Given the description of an element on the screen output the (x, y) to click on. 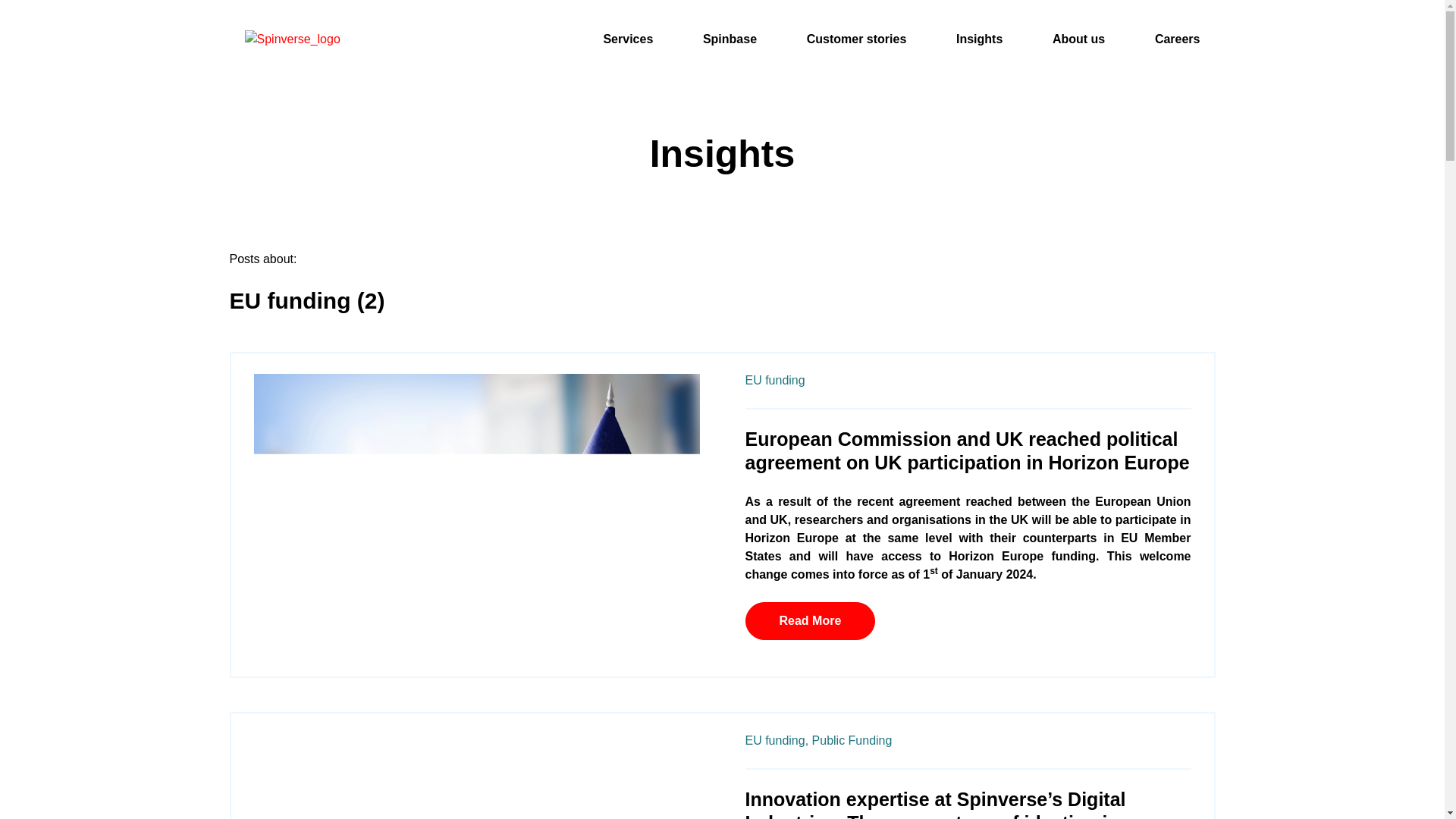
Spinbase (730, 38)
Careers (1176, 38)
Services (627, 38)
About us (1078, 38)
Customer stories (856, 38)
Public Funding (852, 739)
Insights (979, 38)
EU funding, (776, 739)
Read More (809, 620)
